Given the description of an element on the screen output the (x, y) to click on. 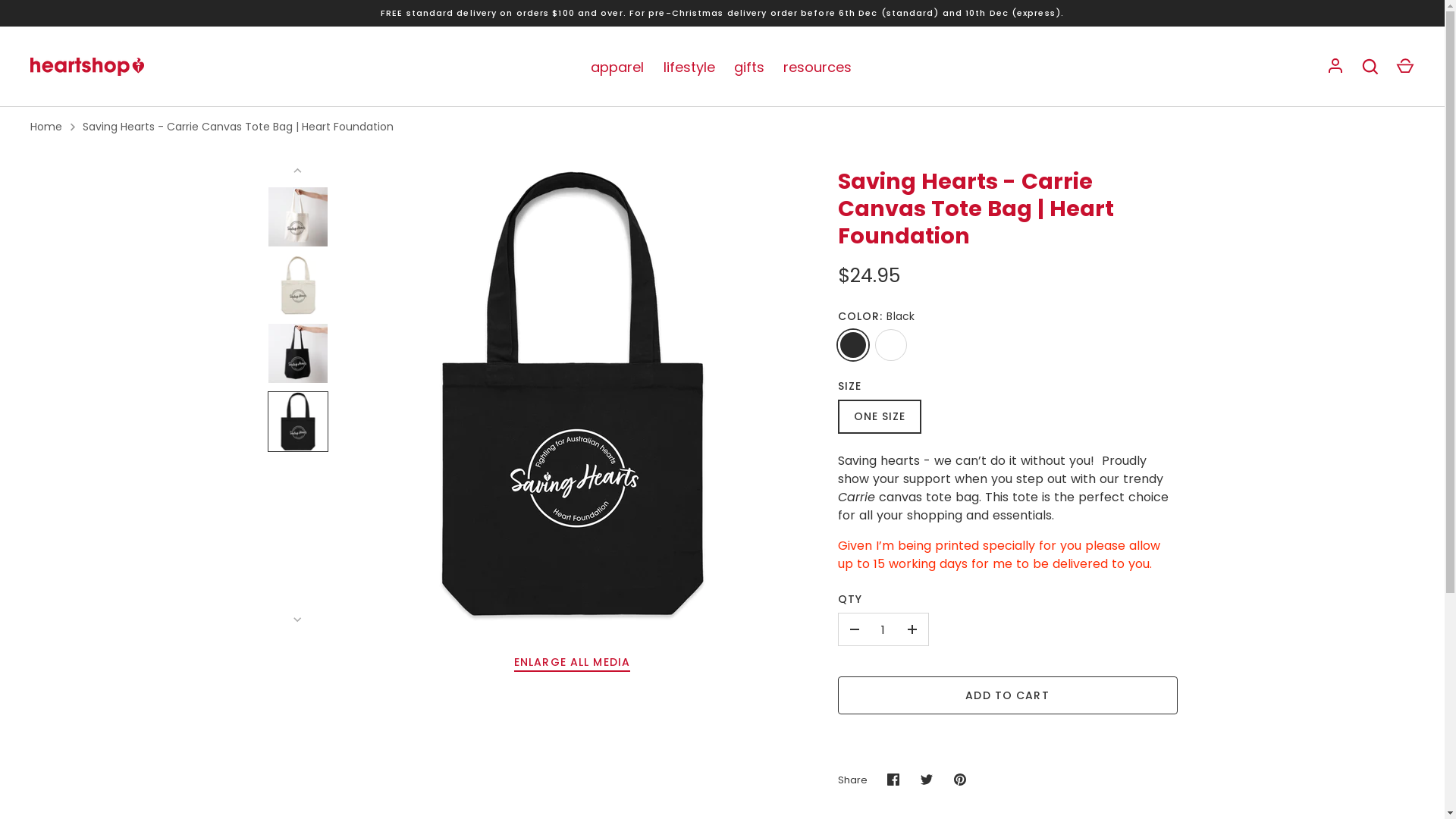
+ Element type: text (912, 629)
Pin it Element type: text (959, 779)
lifestyle Element type: text (688, 66)
ENLARGE ALL MEDIA Element type: text (572, 662)
- Element type: text (854, 629)
Home Element type: text (46, 126)
resources Element type: text (816, 66)
Share on Twitter Element type: text (926, 779)
ADD TO CART Element type: text (1006, 695)
gifts Element type: text (748, 66)
Saving Hearts - Carrie Canvas Tote Bag | Heart Foundation Element type: text (237, 126)
Share on Facebook Element type: text (893, 779)
apparel Element type: text (617, 66)
